Given the description of an element on the screen output the (x, y) to click on. 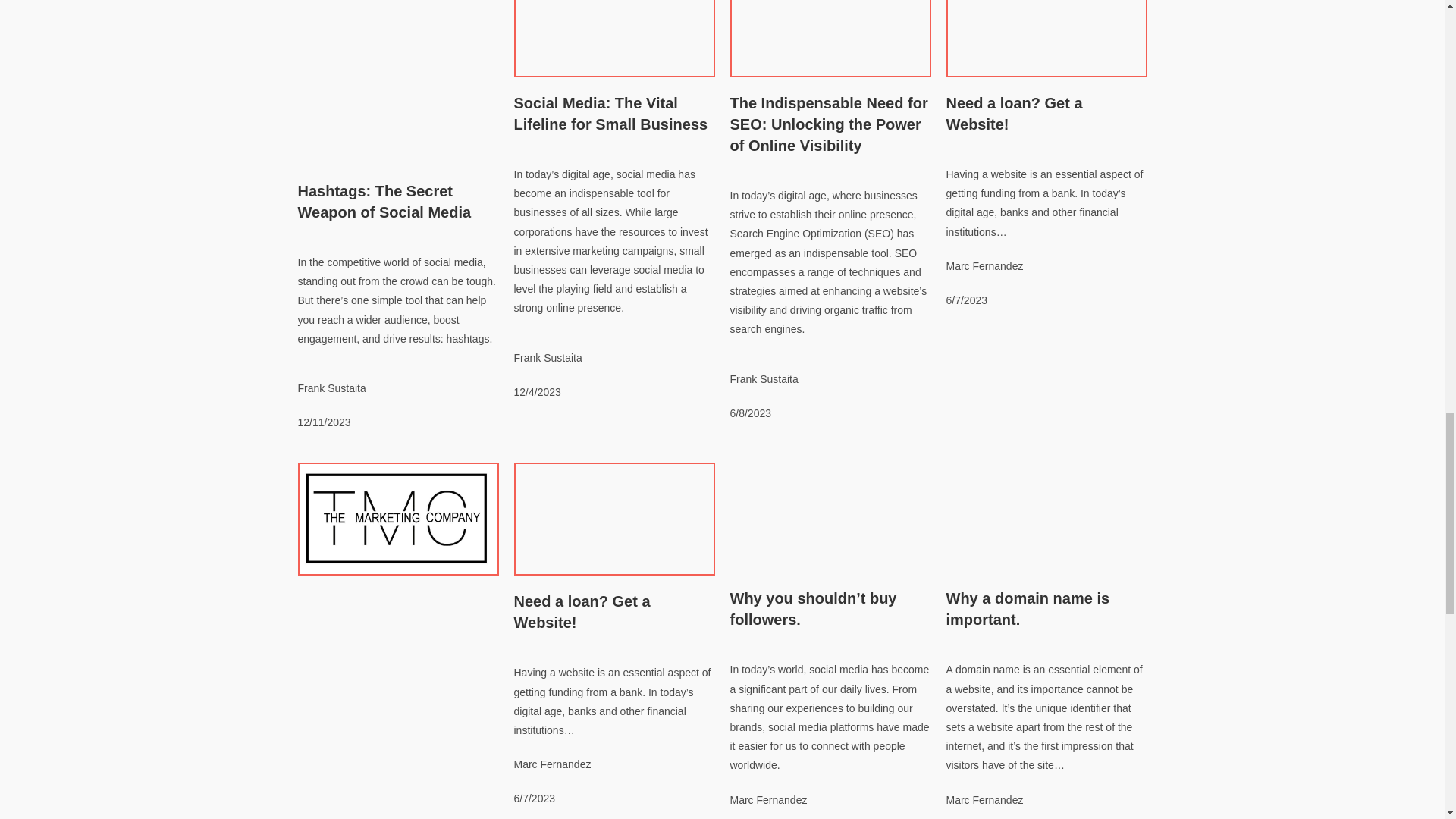
Need a loan? Get a Website! (581, 611)
Social Media: The Vital Lifeline for Small Business (610, 113)
Need a loan? Get a Website! (1014, 113)
Why a domain name is important. (1027, 608)
Hashtags: The Secret Weapon of Social Media (383, 201)
